Given the description of an element on the screen output the (x, y) to click on. 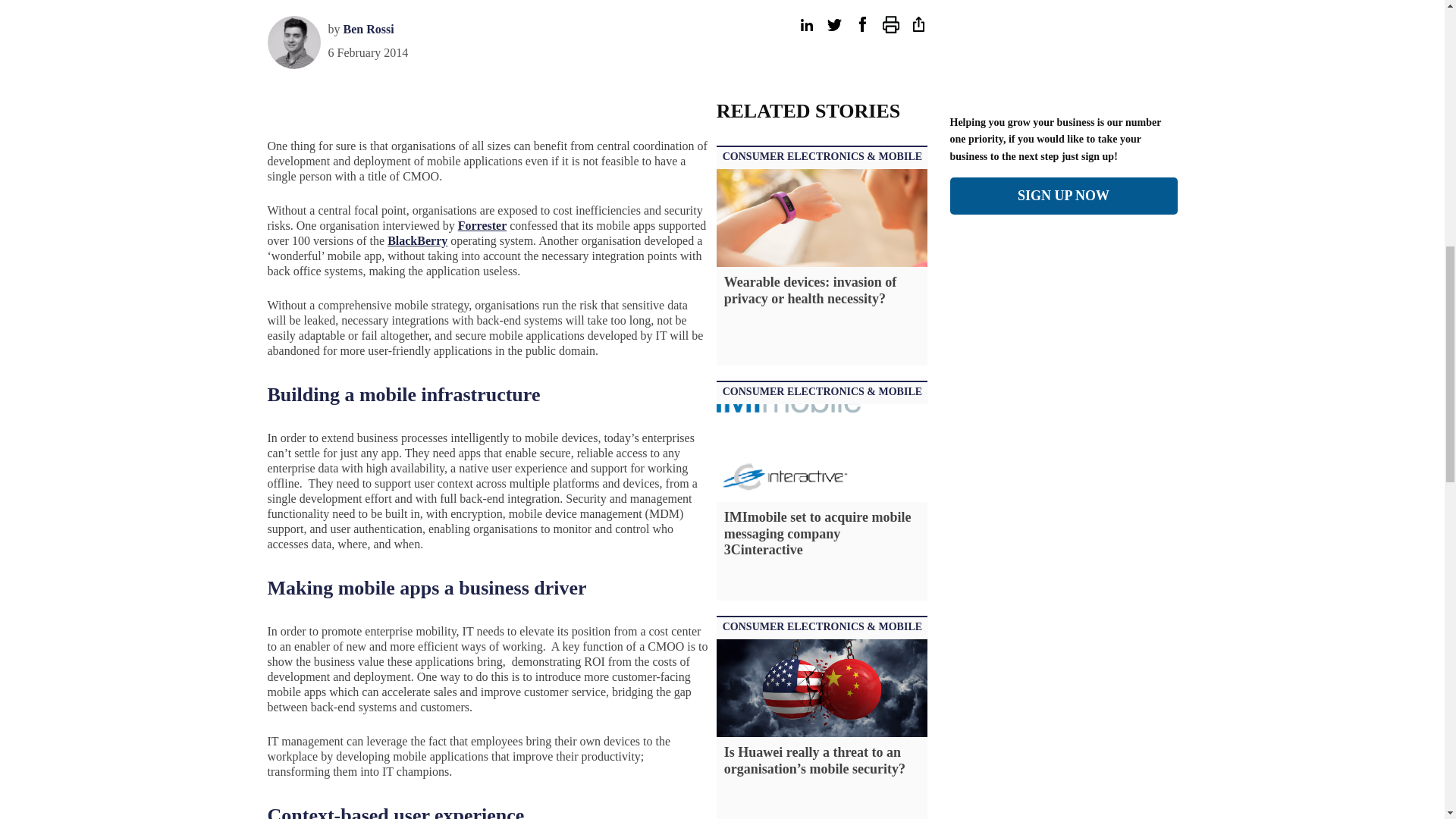
Share on LinkedIn (805, 24)
Tweet this article (835, 24)
Print this article (890, 24)
Share on Facebook (861, 24)
